Given the description of an element on the screen output the (x, y) to click on. 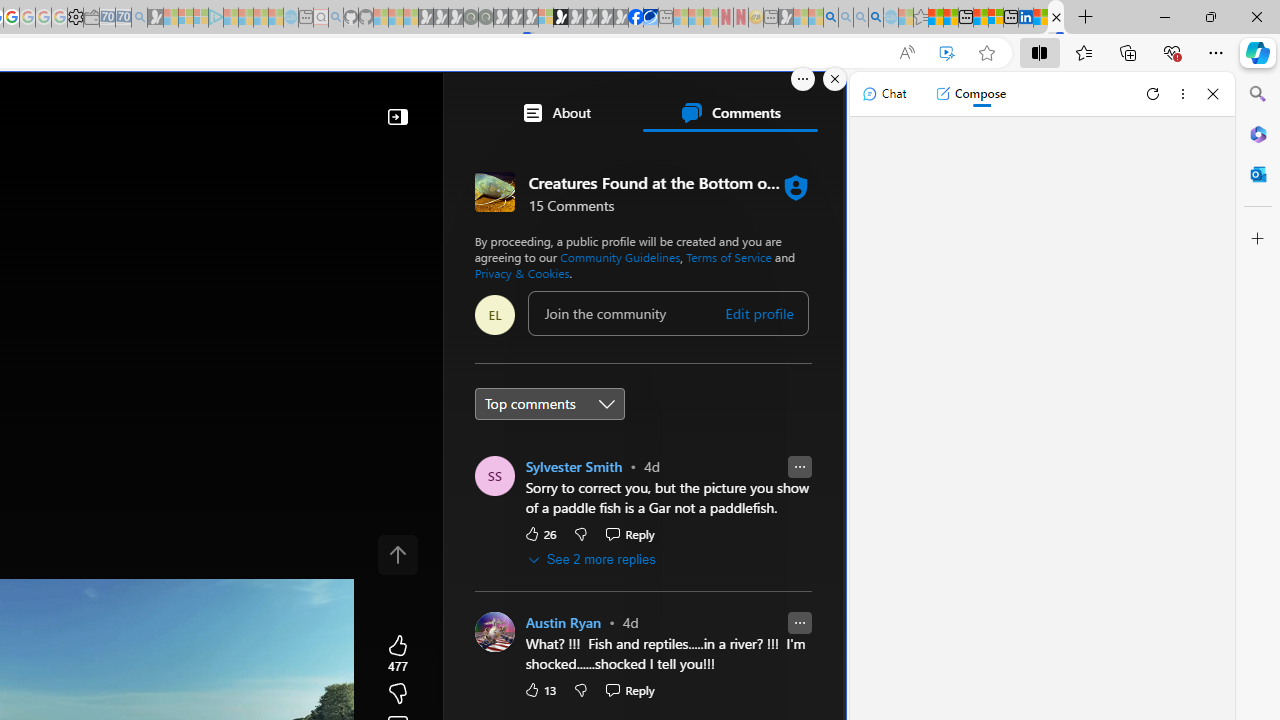
See 2 more replies (592, 560)
ABC News (545, 557)
AQI & Health | AirNow.gov (650, 17)
